Given the description of an element on the screen output the (x, y) to click on. 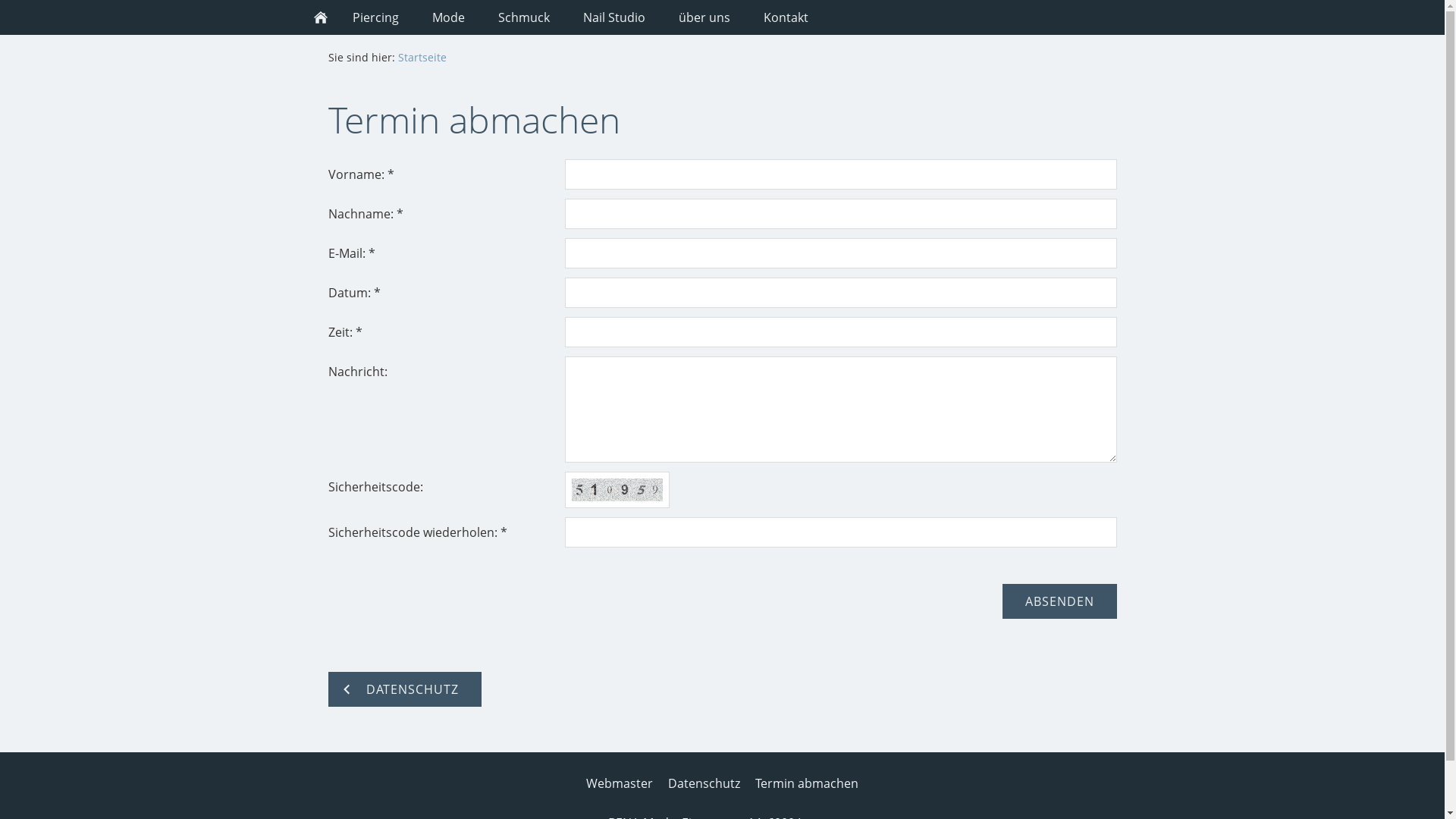
absenden Element type: text (1059, 600)
Kontakt Element type: text (785, 17)
Mode Element type: text (448, 17)
Termin abmachen Element type: text (806, 783)
Schmuck Element type: text (522, 17)
Datenschutz Element type: text (704, 783)
DATENSCHUTZ Element type: text (403, 688)
Webmaster Element type: text (619, 783)
Nail Studio Element type: text (613, 17)
Startseite Element type: text (421, 57)
Piercing Element type: text (374, 17)
